Given the description of an element on the screen output the (x, y) to click on. 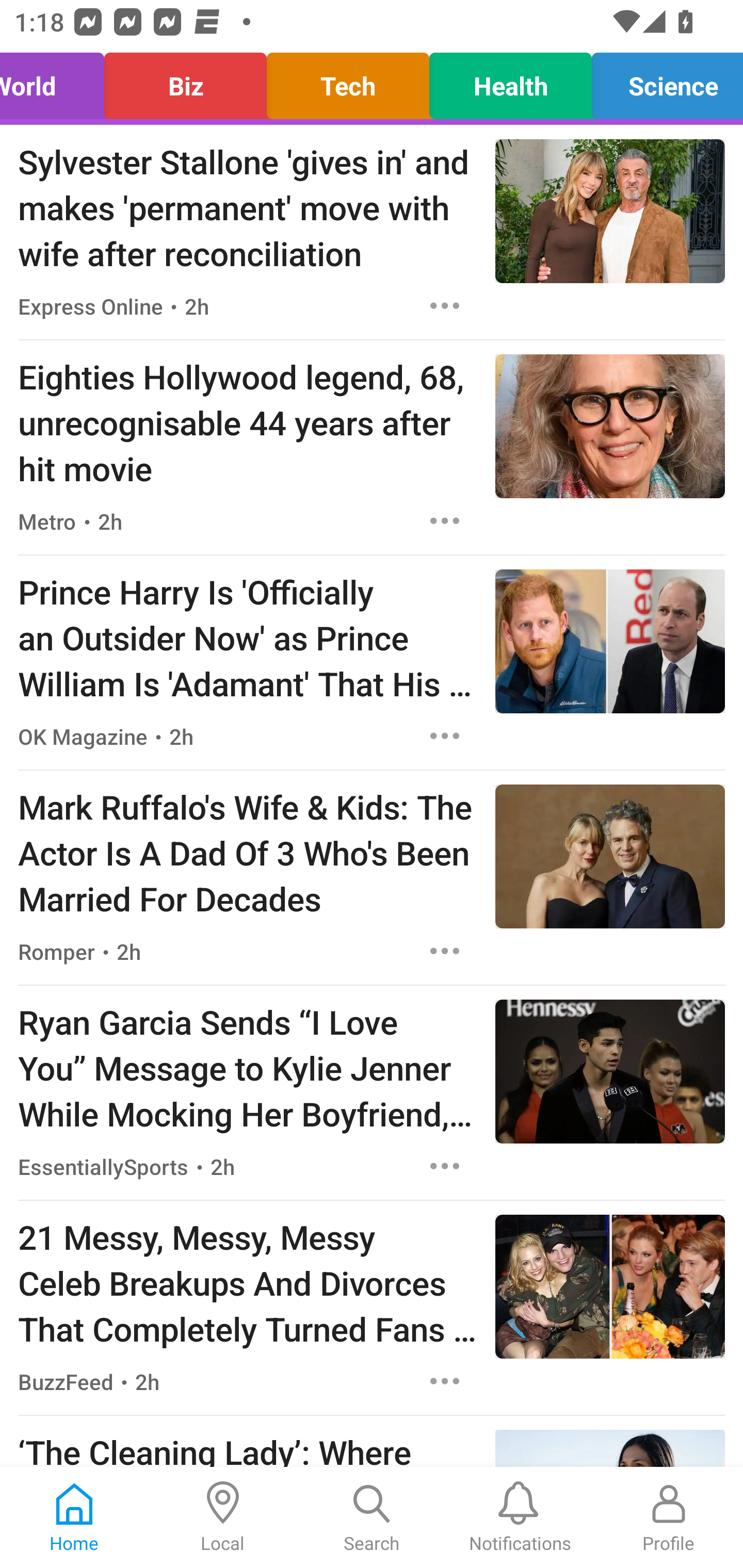
Biz (185, 81)
Tech (347, 81)
Health (510, 81)
Science (662, 81)
Options (444, 305)
Options (444, 520)
Options (444, 736)
Options (444, 950)
Options (444, 1166)
Options (444, 1381)
Local (222, 1517)
Search (371, 1517)
Notifications (519, 1517)
Profile (668, 1517)
